Given the description of an element on the screen output the (x, y) to click on. 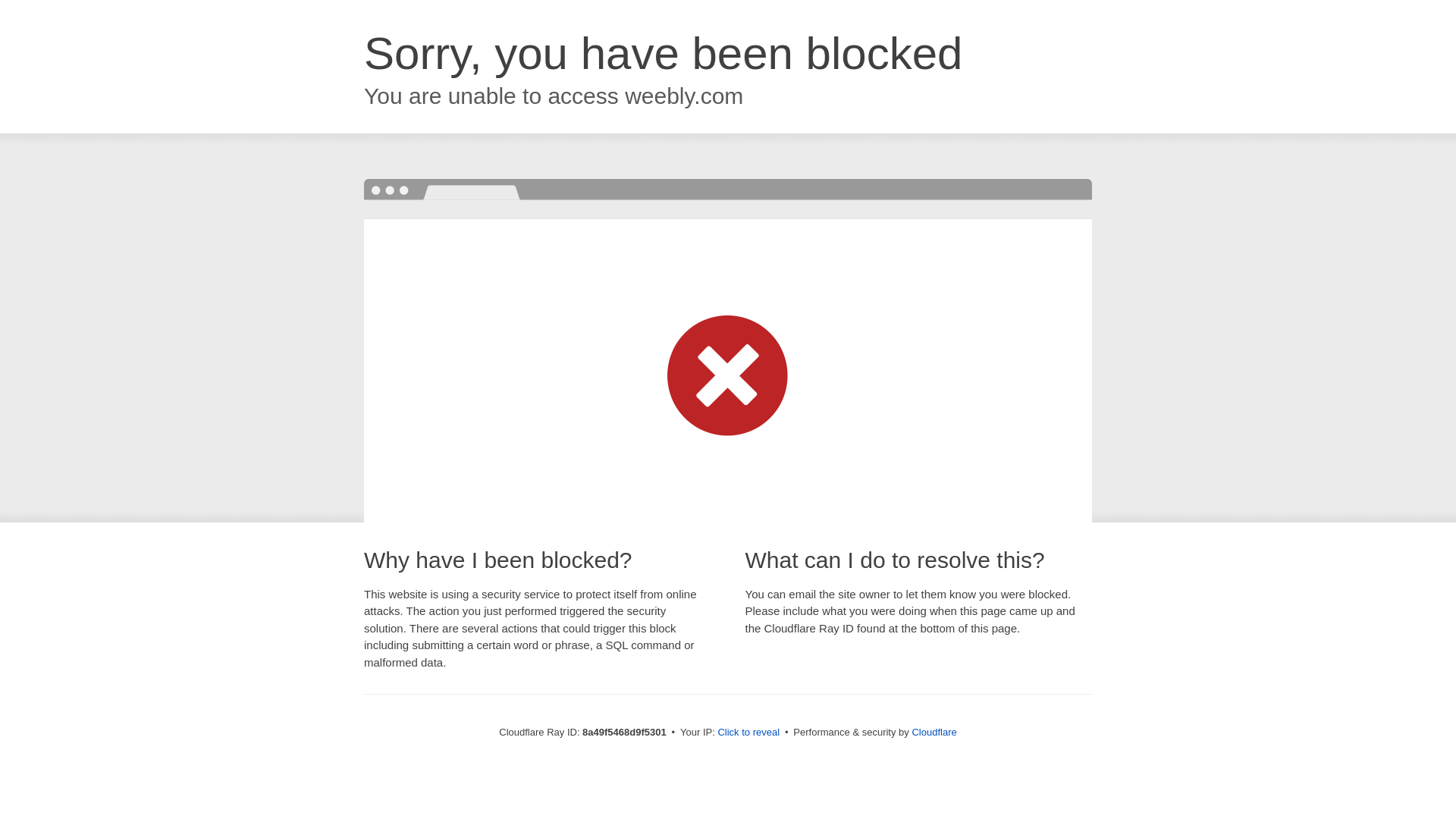
Click to reveal (747, 732)
Cloudflare (933, 731)
